Given the description of an element on the screen output the (x, y) to click on. 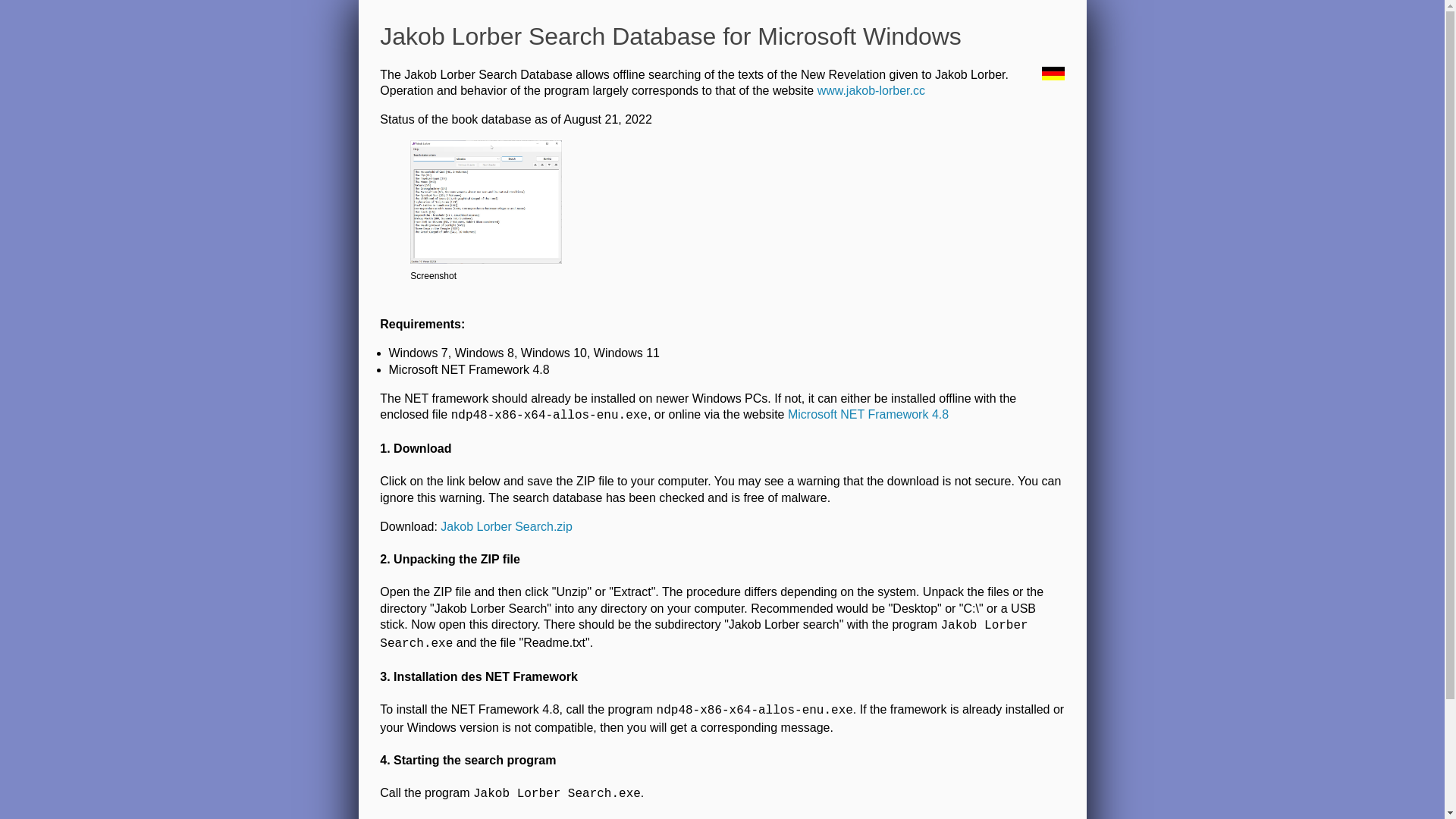
Microsoft NET Framework 4.8 Element type: text (867, 413)
Jakob Lorber Search.zip Element type: text (505, 526)
Screenshot Jakob Lorber Search Database Element type: hover (485, 201)
www.jakob-lorber.cc Element type: text (871, 90)
German version Element type: hover (1052, 73)
